Given the description of an element on the screen output the (x, y) to click on. 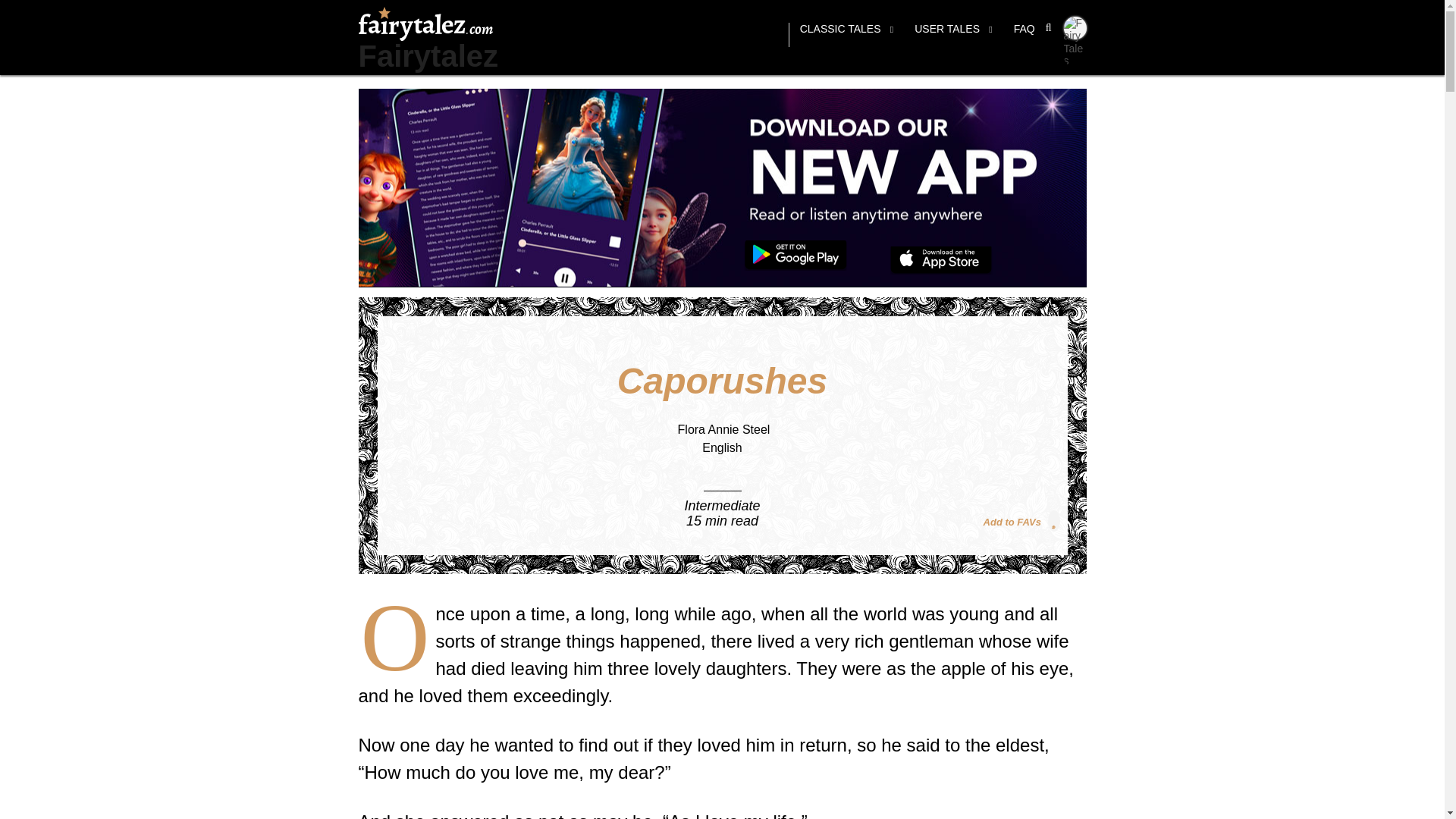
Fairytalez audio book android app (795, 255)
FAQ (1024, 34)
Fairytalez (427, 55)
View all items in Flora Annie Steel (724, 429)
USER TALES (953, 34)
Flora Annie Steel (724, 429)
Fairytalez audio book ios app (940, 260)
English (721, 447)
Add to FAVs (1021, 520)
